Given the description of an element on the screen output the (x, y) to click on. 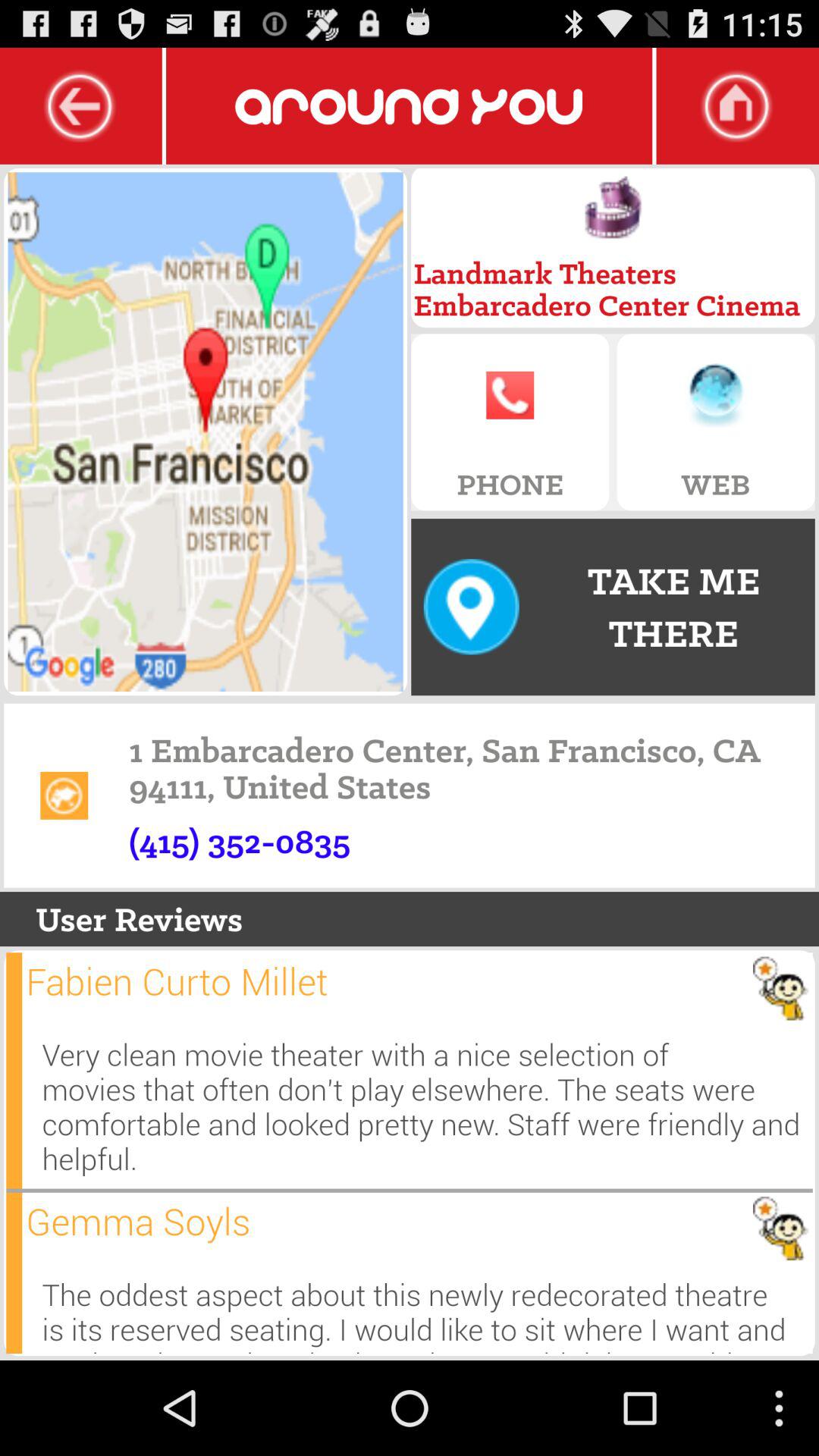
turn on the item next to the fabien curto millet icon (14, 1070)
